Given the description of an element on the screen output the (x, y) to click on. 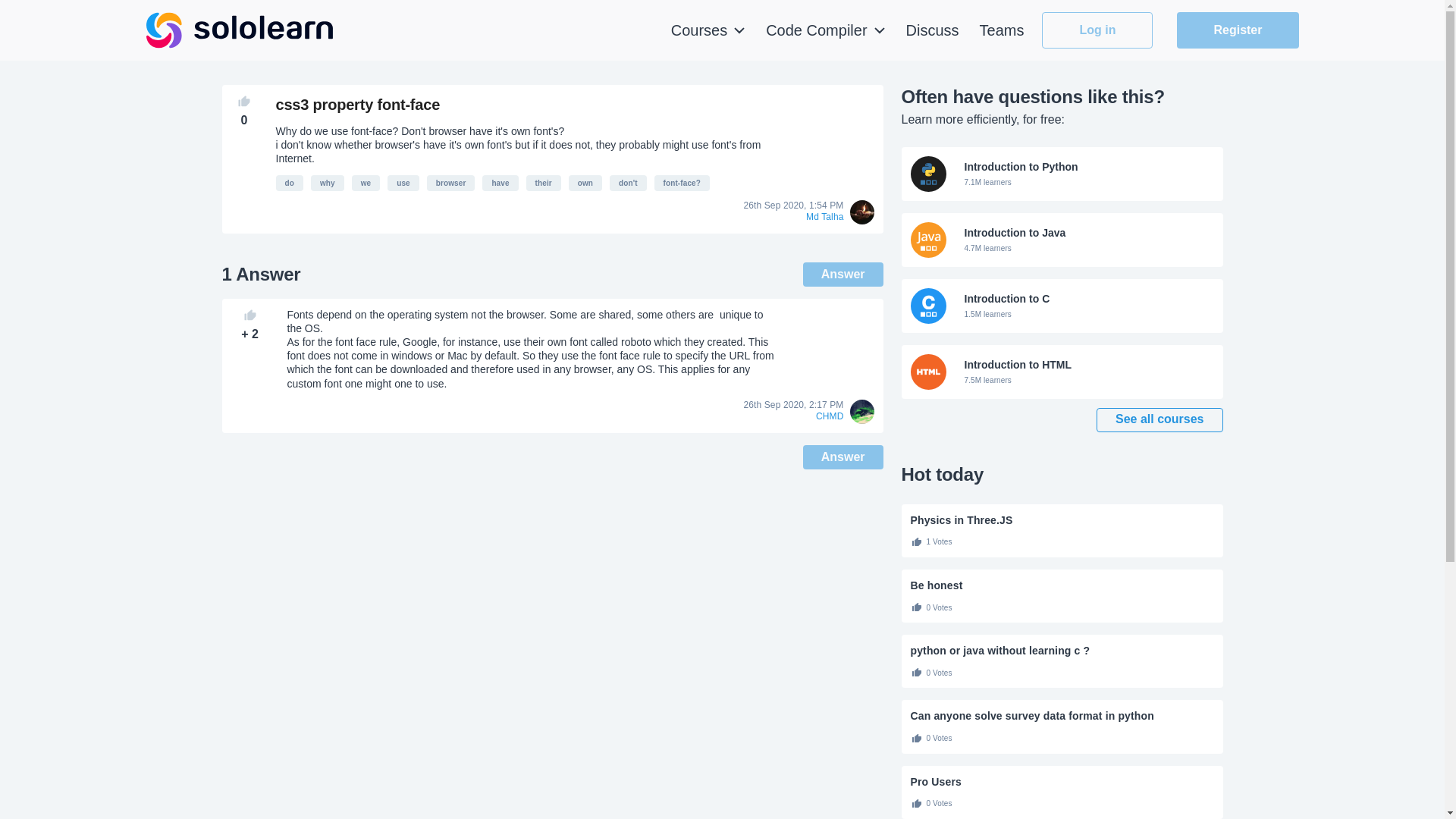
Can anyone solve survey data format in python (1061, 715)
have (499, 182)
Courses (708, 29)
do (289, 182)
Introduction to Python (1062, 173)
Code Compiler (825, 29)
browser (451, 182)
Answer (843, 457)
why (1062, 239)
font-face? (327, 182)
Introduction to HTML (681, 182)
See all courses (1062, 371)
Discuss (1062, 173)
